Given the description of an element on the screen output the (x, y) to click on. 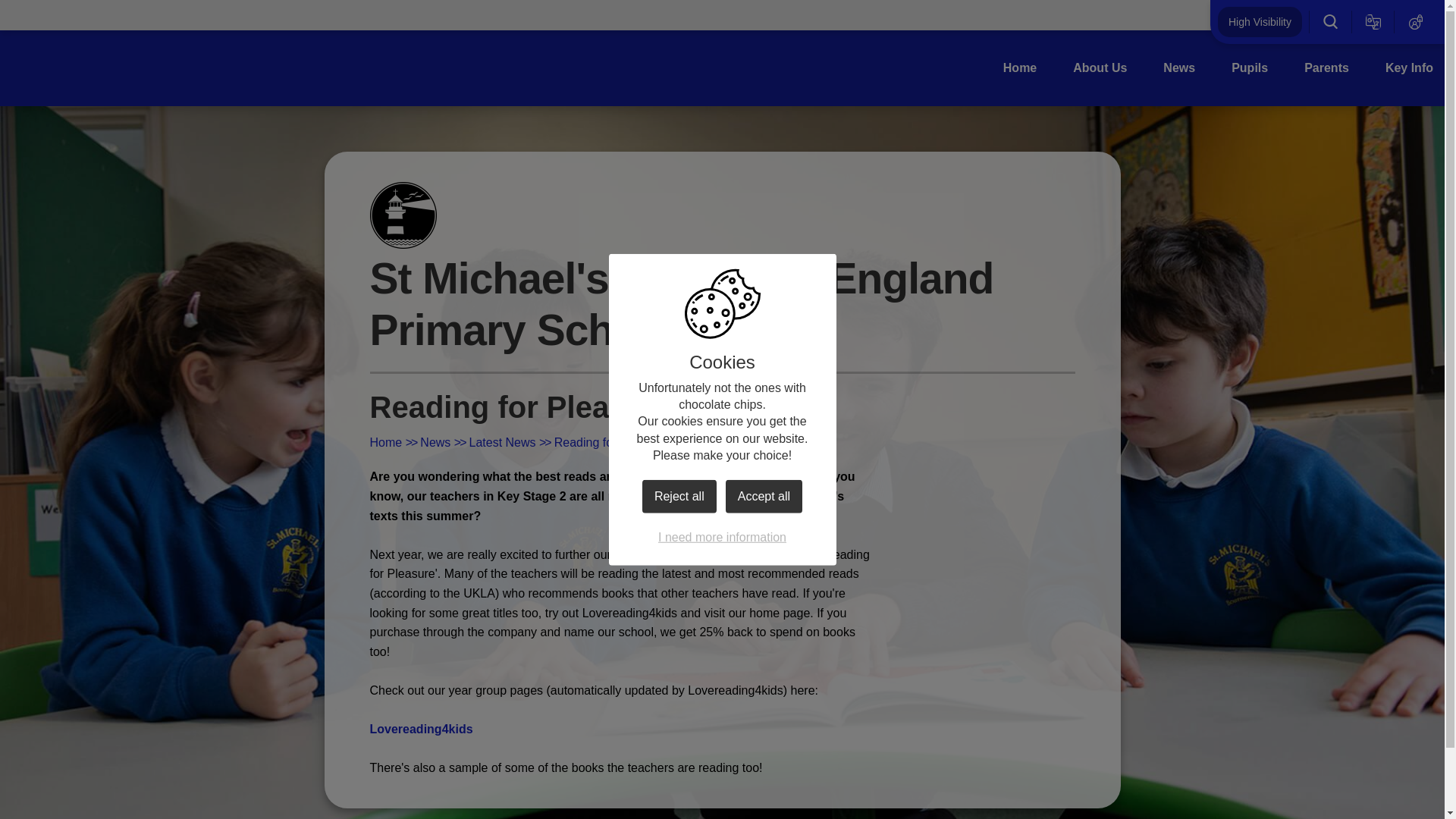
Google Translate (1373, 21)
Home (1019, 67)
About Us (1099, 67)
Google Search (1330, 21)
Log in (1415, 21)
High Visibility (1259, 21)
